Given the description of an element on the screen output the (x, y) to click on. 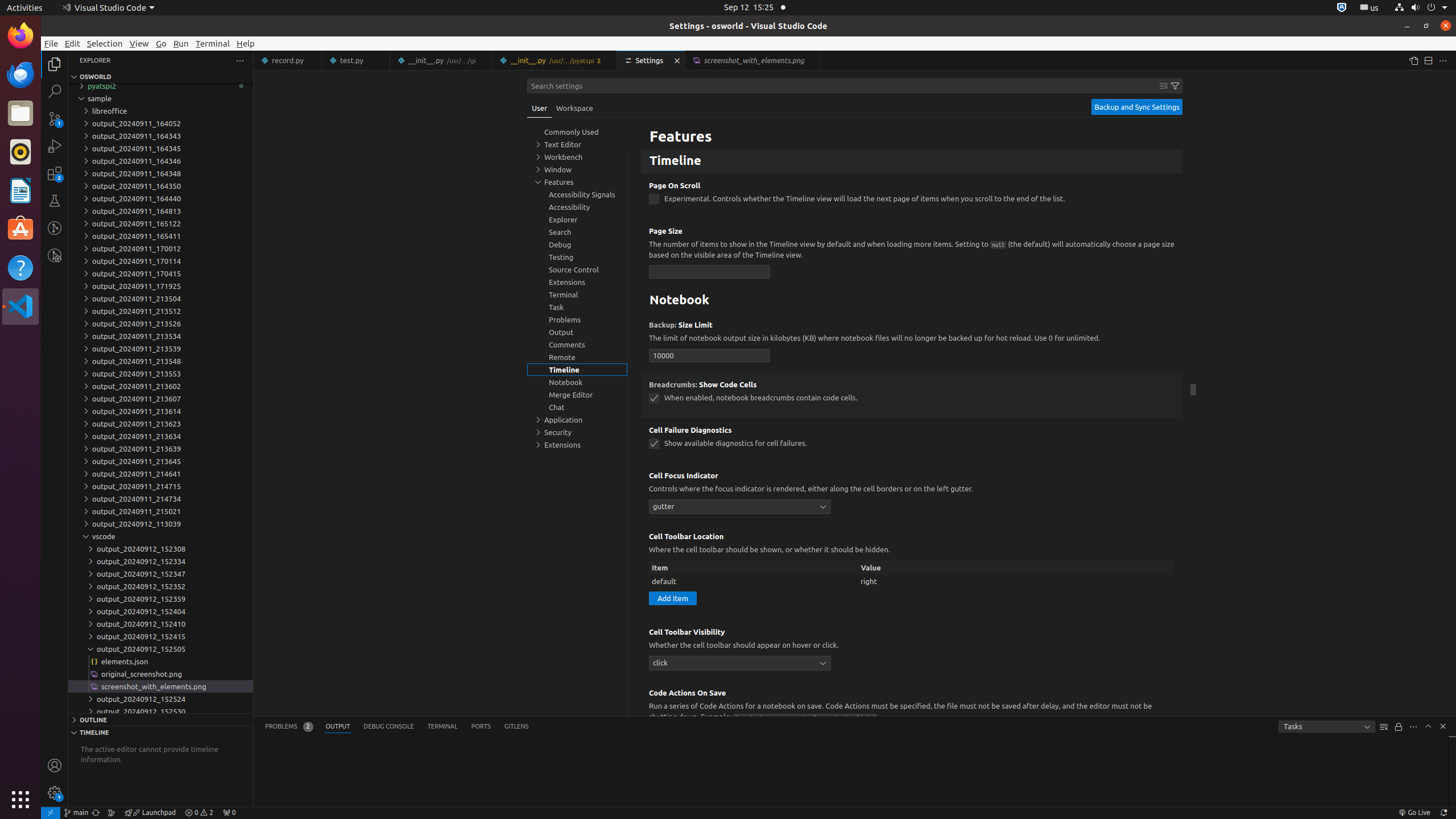
Turn Auto Scrolling Off Element type: check-box (1398, 726)
output_20240911_170415 Element type: tree-item (160, 273)
Testing Element type: page-tab (54, 200)
Testing, group Element type: tree-item (577, 256)
notebook.cellFailureDiagnostics Element type: check-box (653, 443)
